Given the description of an element on the screen output the (x, y) to click on. 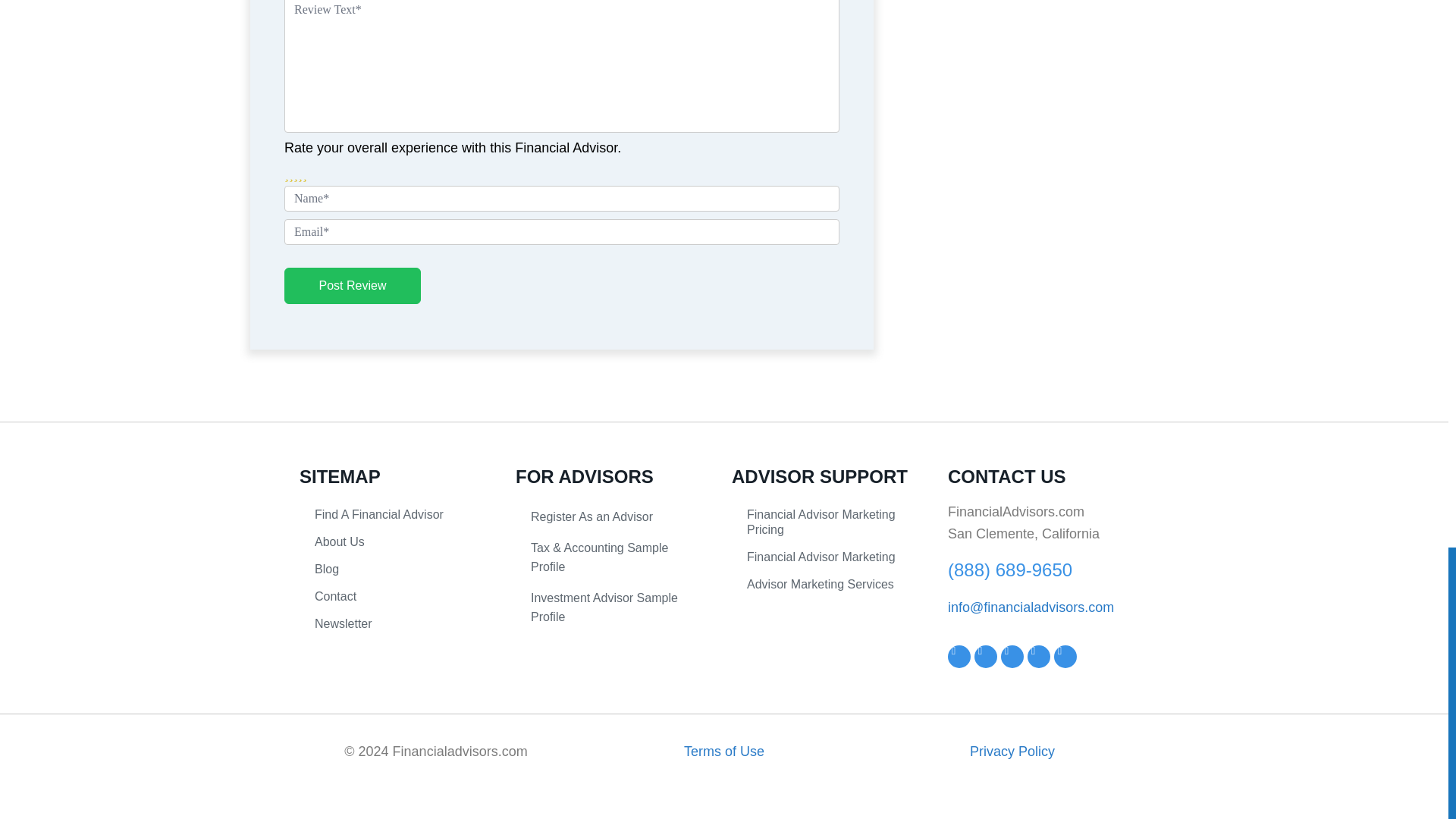
Call Us Now! (1009, 569)
Post Review (351, 285)
Mail Us (1030, 607)
